Given the description of an element on the screen output the (x, y) to click on. 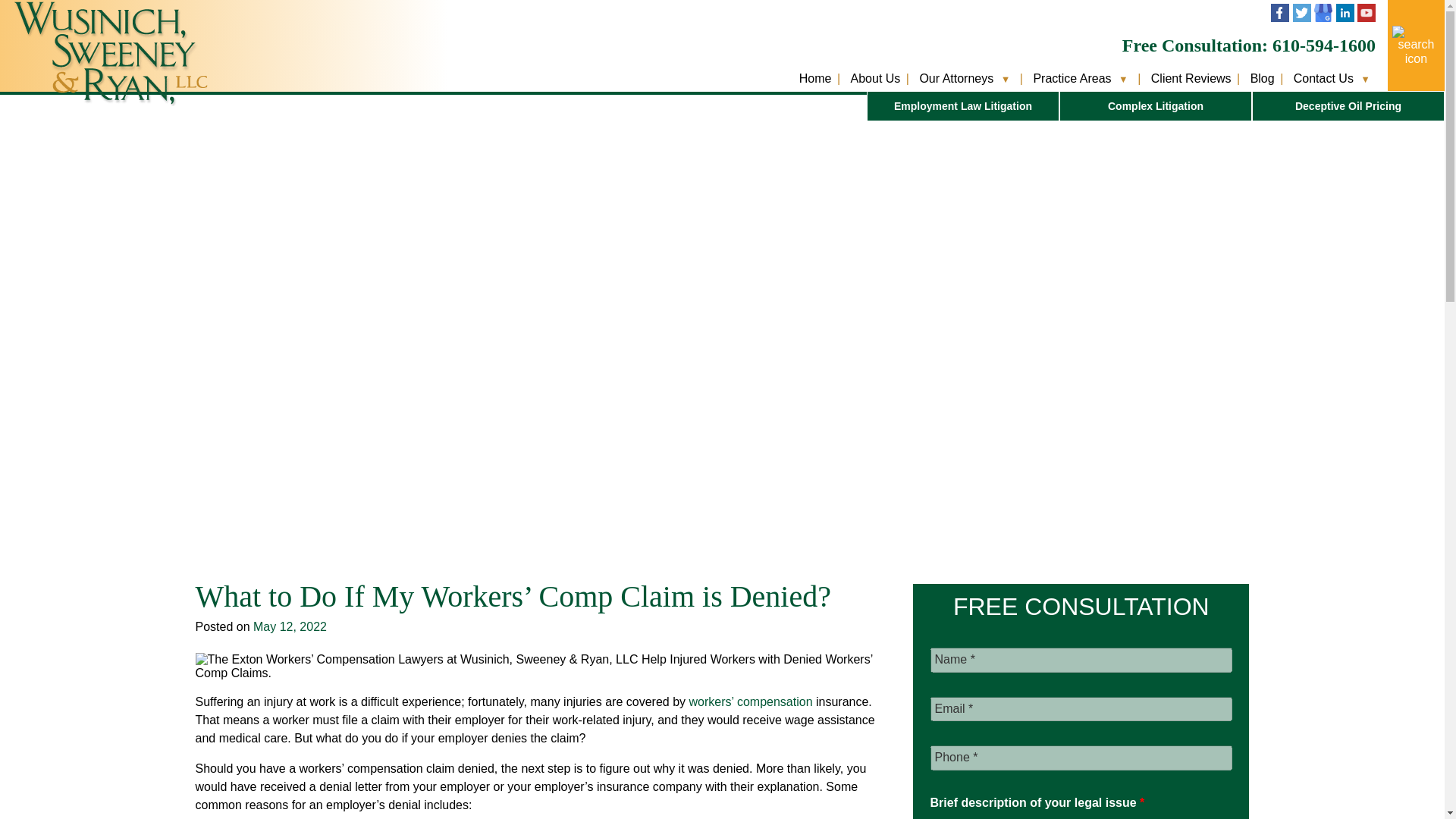
Home (815, 89)
Our Attorneys (955, 89)
Complex Litigation (1155, 105)
610-594-1600 (1323, 45)
May 12, 2022 (289, 626)
Client Reviews (1191, 89)
About Us (875, 89)
Practice Areas (1071, 89)
Employment Law Litigation (962, 105)
Contact Us (1324, 89)
